Given the description of an element on the screen output the (x, y) to click on. 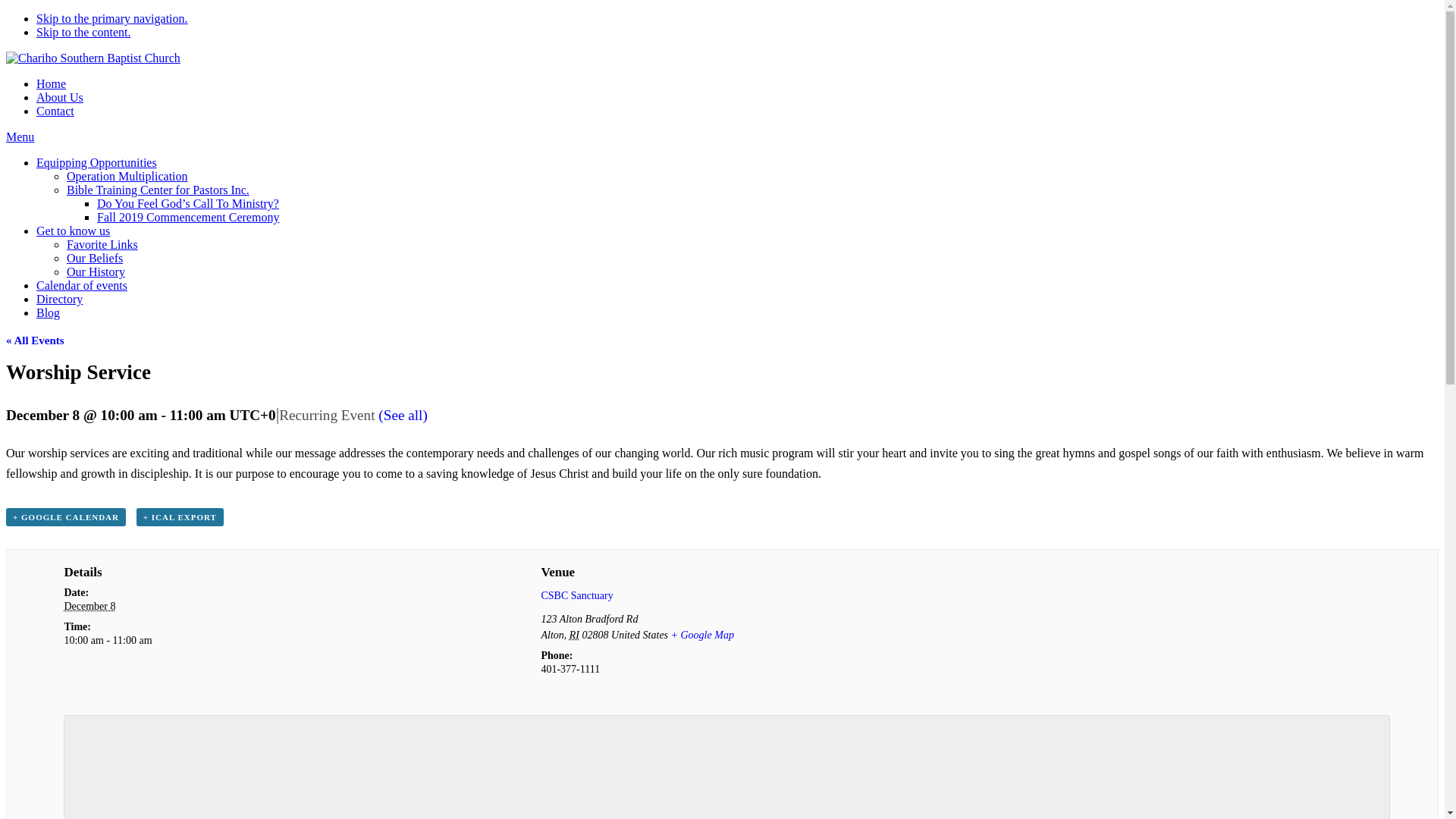
Favorite Links (102, 244)
Fall 2019 Commencement Ceremony (188, 216)
2024-12-08 (89, 605)
Home (50, 83)
Equipping Opportunities (96, 162)
Skip to the primary navigation. (111, 18)
Download .ics file (180, 516)
Menu (19, 136)
Skip to the content. (83, 31)
Operation Multiplication (126, 175)
About Us (59, 97)
Contact (55, 110)
CSBC Sanctuary (576, 595)
Our Beliefs (94, 257)
Our History (95, 271)
